Given the description of an element on the screen output the (x, y) to click on. 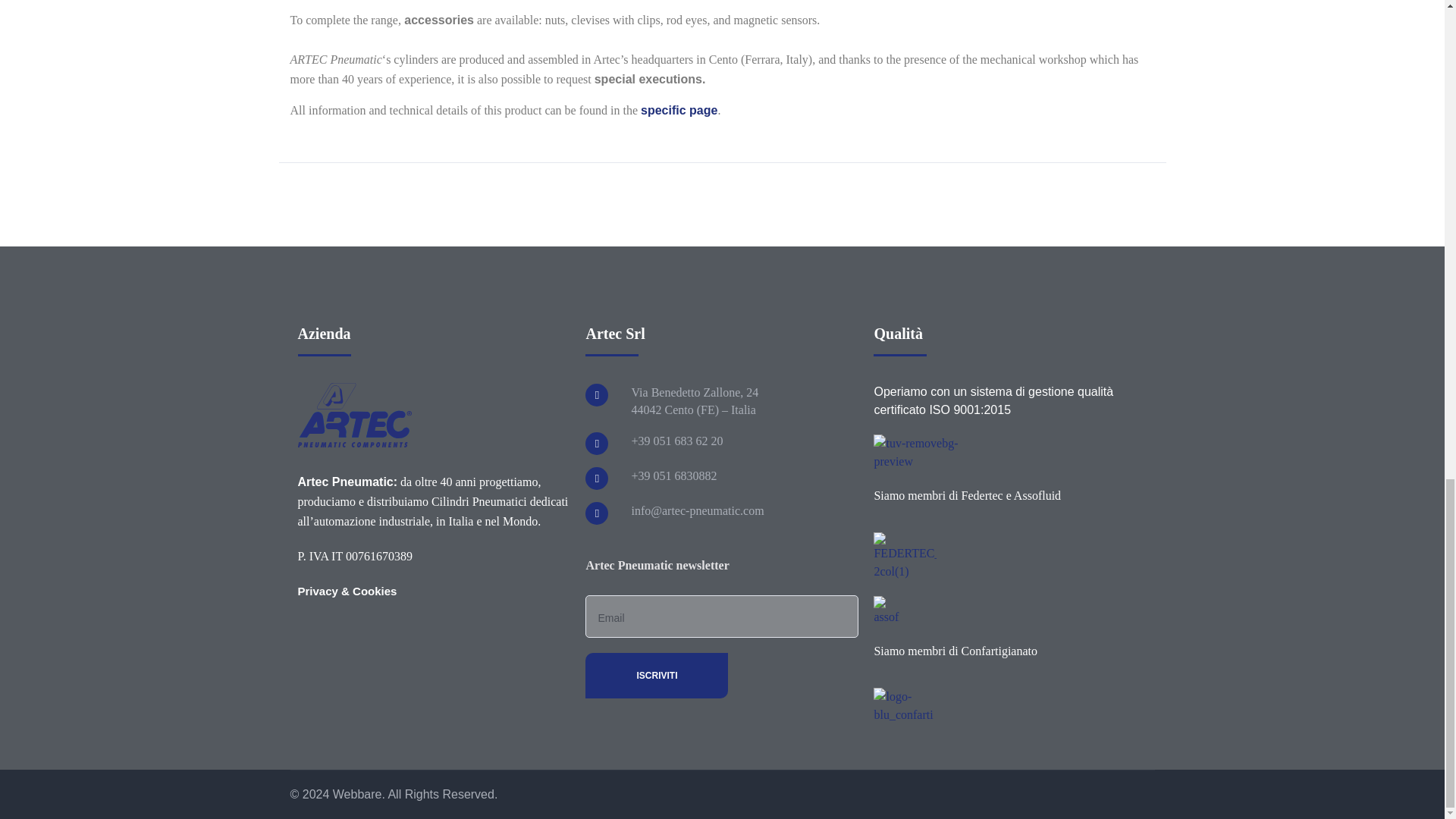
ISCRIVITI (656, 675)
tuv-removebg-preview (916, 452)
Page 1 (721, 60)
